Given the description of an element on the screen output the (x, y) to click on. 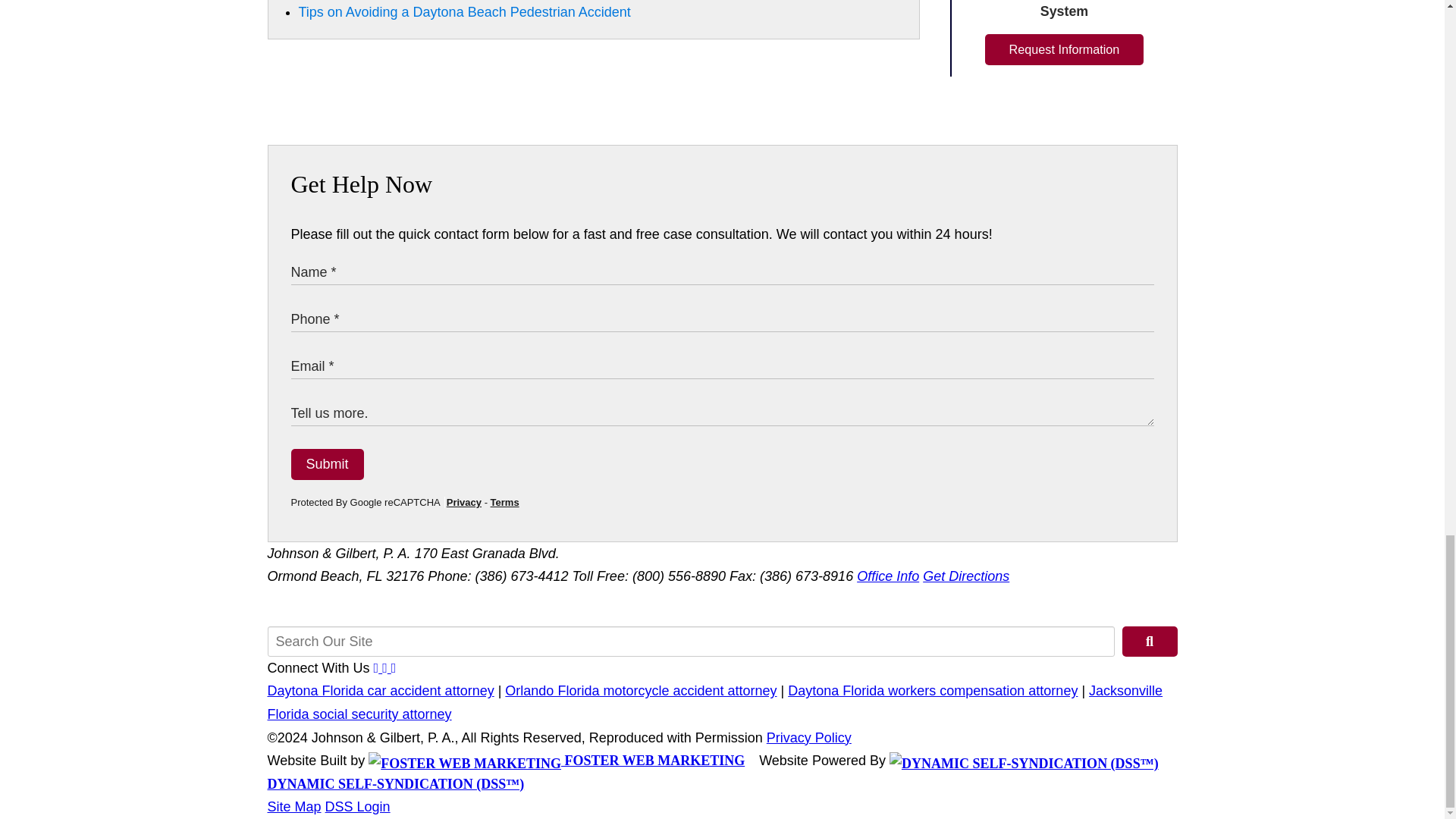
Tips on Avoiding a Daytona Beach Pedestrian Accident (464, 11)
Search (1149, 641)
